Given the description of an element on the screen output the (x, y) to click on. 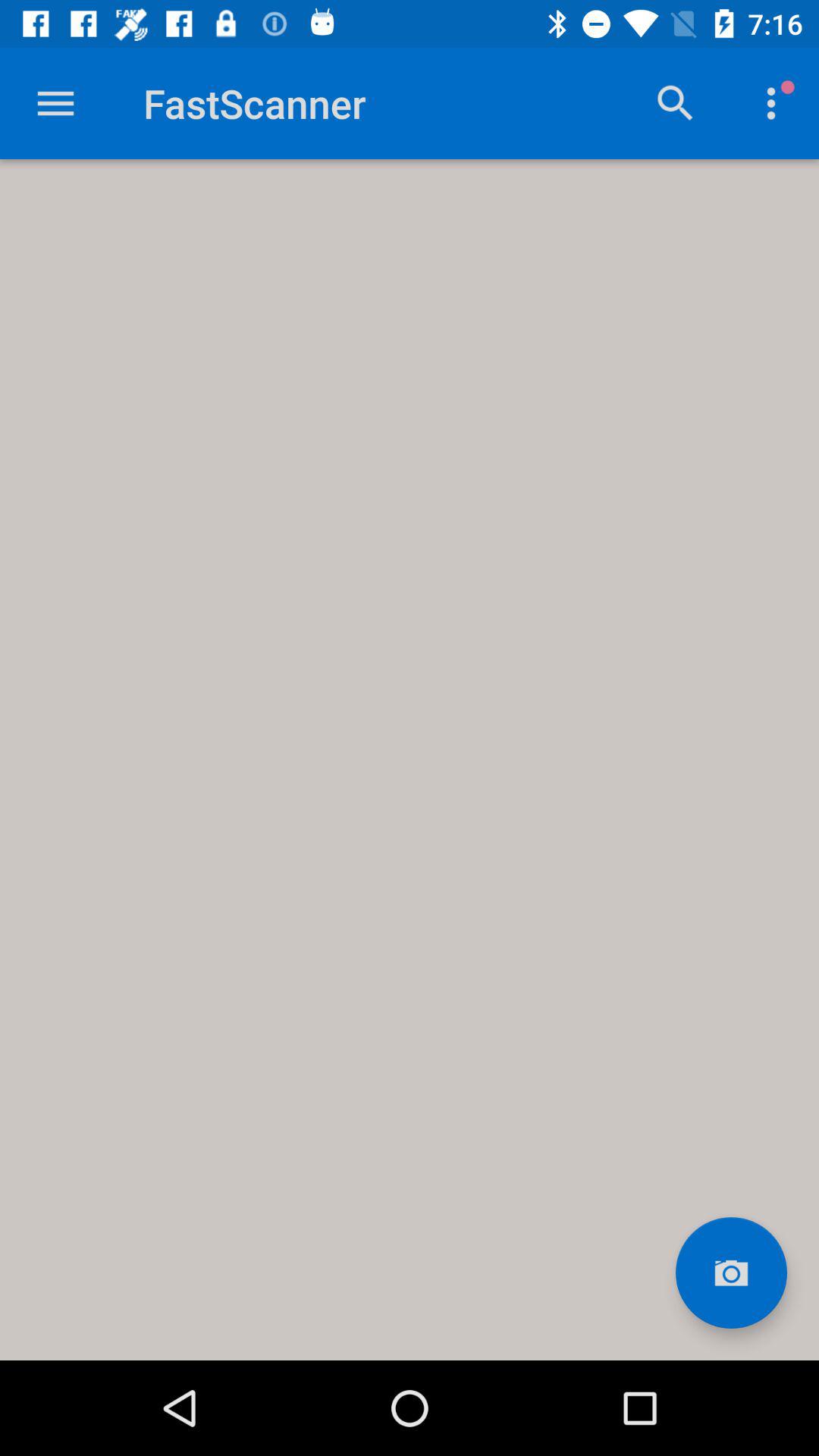
take a picture (731, 1272)
